Given the description of an element on the screen output the (x, y) to click on. 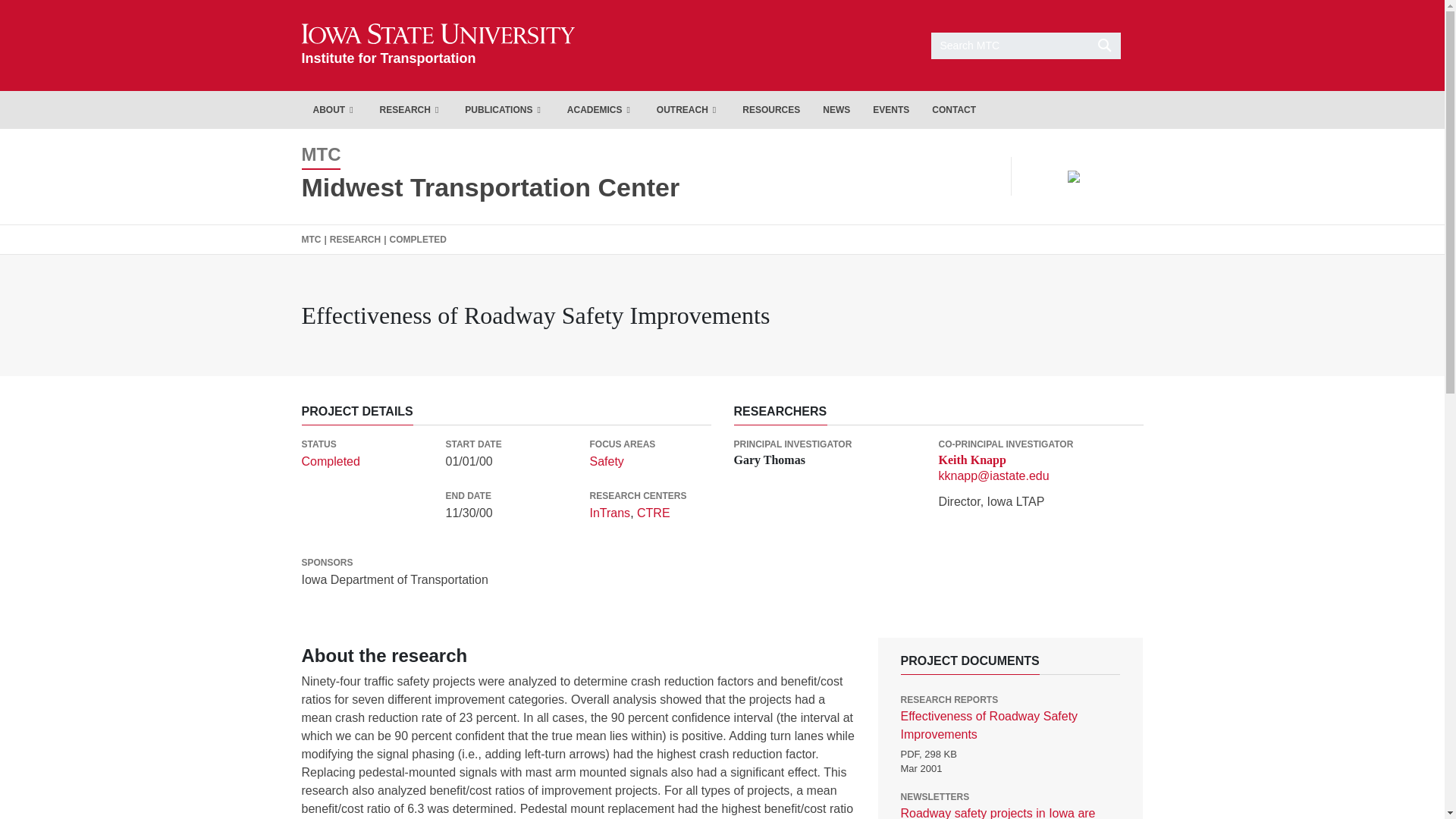
Safety (606, 461)
RESOURCES (770, 109)
RESEARCH (438, 44)
CTRE (411, 109)
InTrans (653, 512)
Search (609, 512)
Midwest Transportation Center (1026, 44)
EVENTS (490, 186)
